Given the description of an element on the screen output the (x, y) to click on. 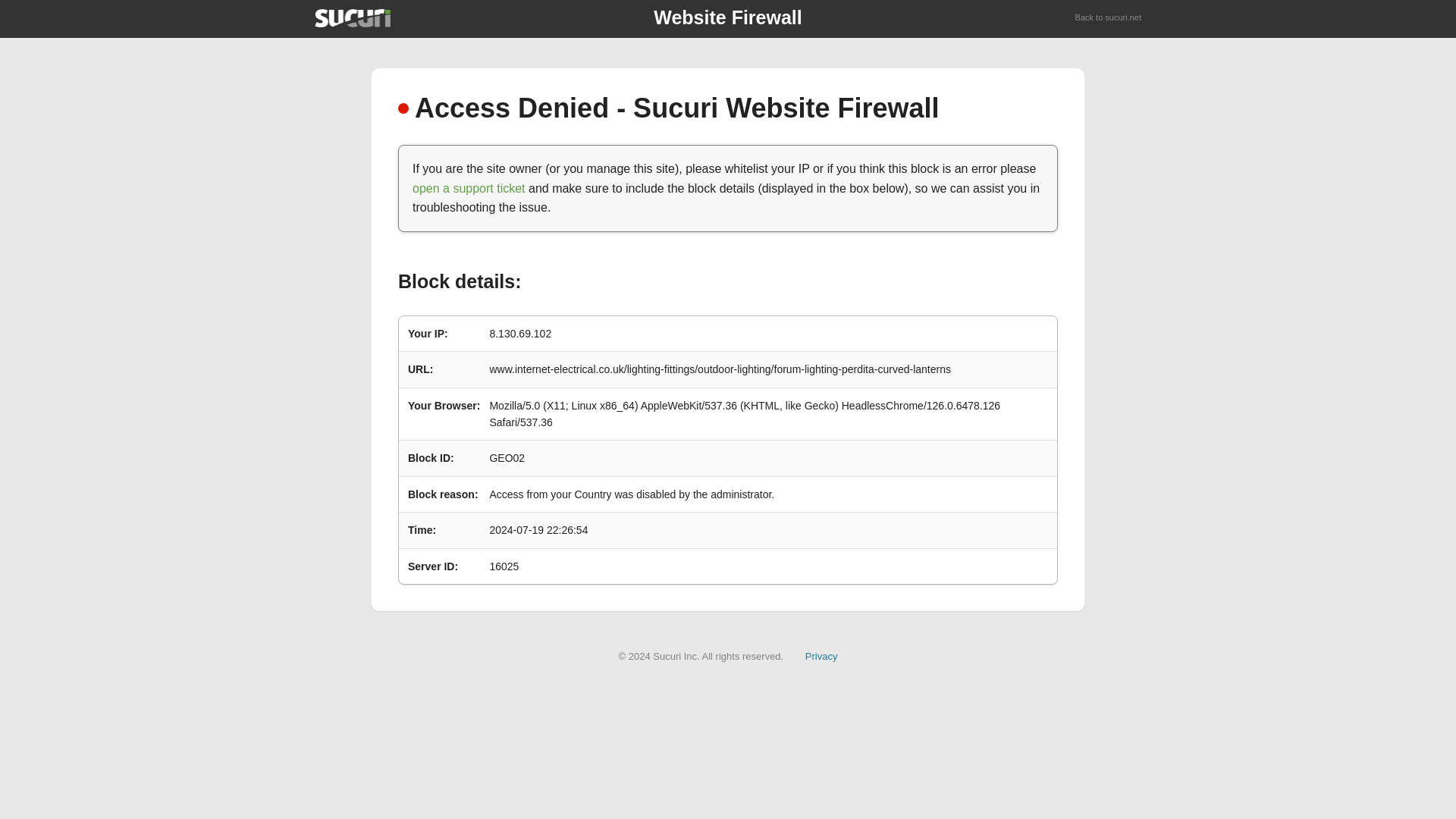
open a support ticket (468, 187)
Privacy (821, 655)
Back to sucuri.net (1108, 18)
